Given the description of an element on the screen output the (x, y) to click on. 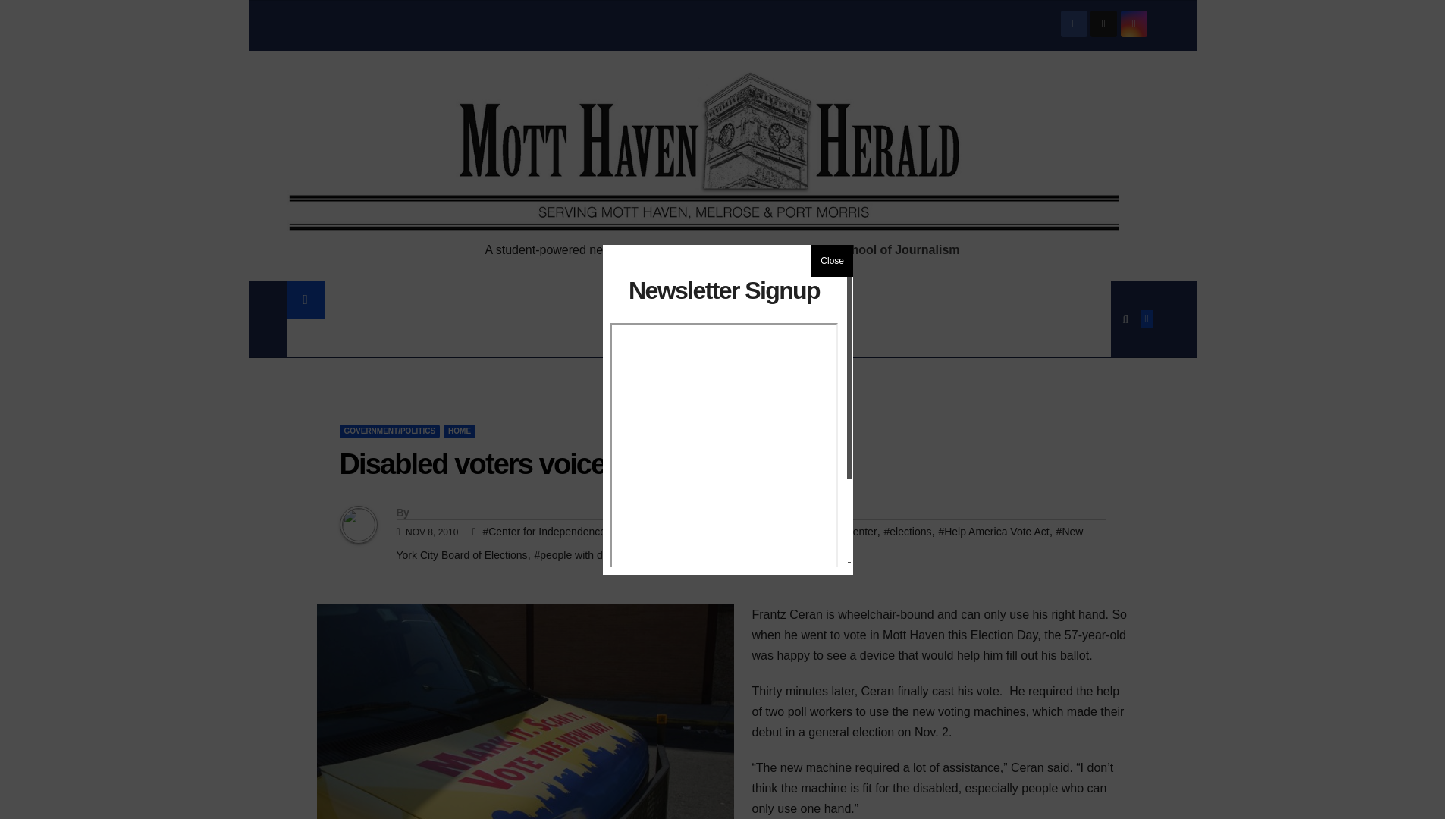
Business (730, 300)
Disabled voters voice frustration at polls (587, 463)
COMMUNITY RESOURCES (374, 338)
Events (501, 338)
EVENTS (501, 338)
NEWS (357, 300)
HOME (460, 431)
BUSINESS (730, 300)
Permalink to: Disabled voters voice frustration at polls (587, 463)
News (357, 300)
truck4 (525, 711)
Craig Newmark Graduate School of Journalism (823, 249)
Community resources (374, 338)
